Given the description of an element on the screen output the (x, y) to click on. 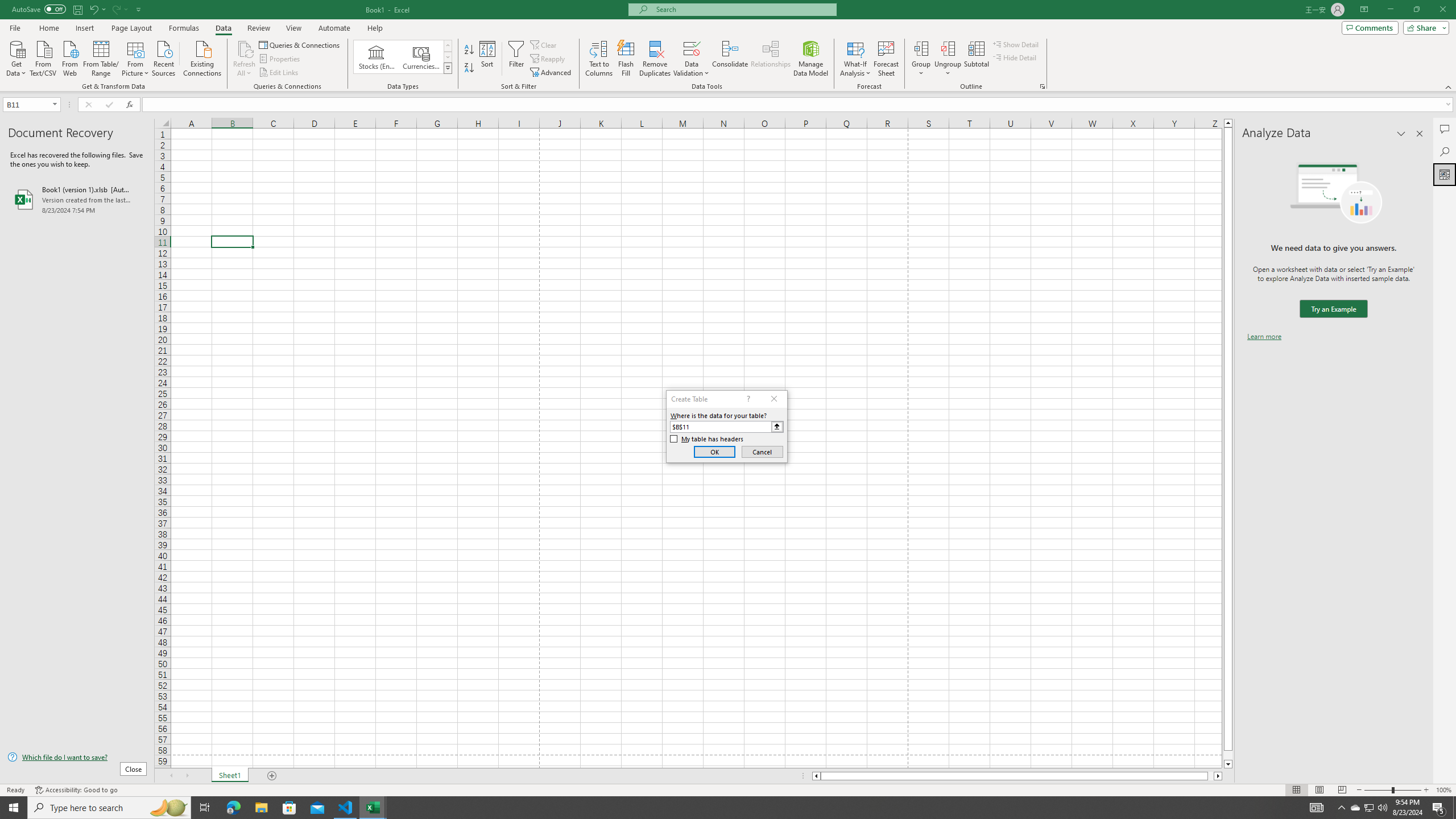
Sort A to Z (469, 49)
Text to Columns... (598, 58)
Analyze Data (1444, 173)
AutomationID: ConvertToLinkedEntity (403, 56)
Row Down (448, 56)
